Given the description of an element on the screen output the (x, y) to click on. 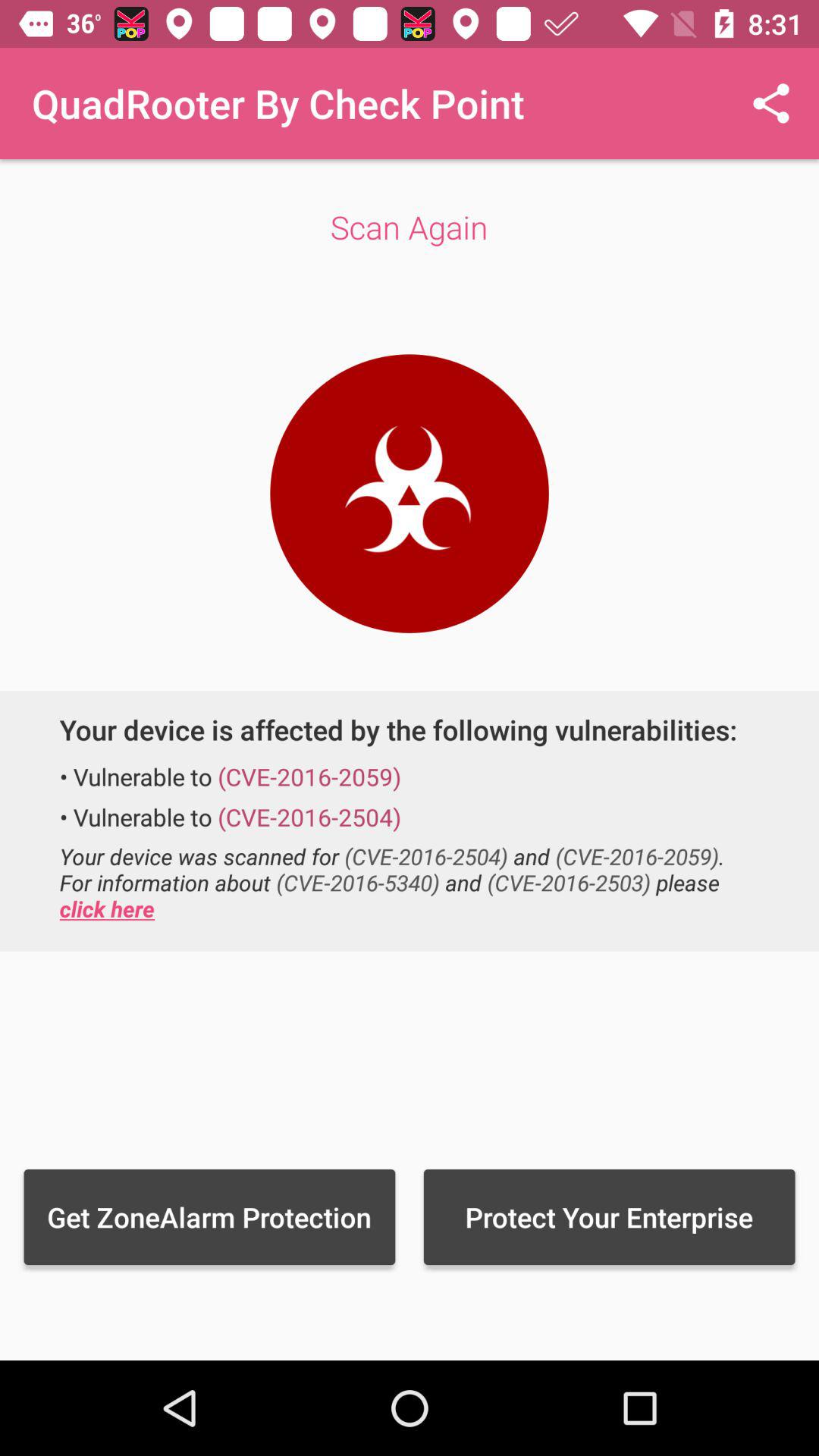
jump to the protect your enterprise item (609, 1216)
